Given the description of an element on the screen output the (x, y) to click on. 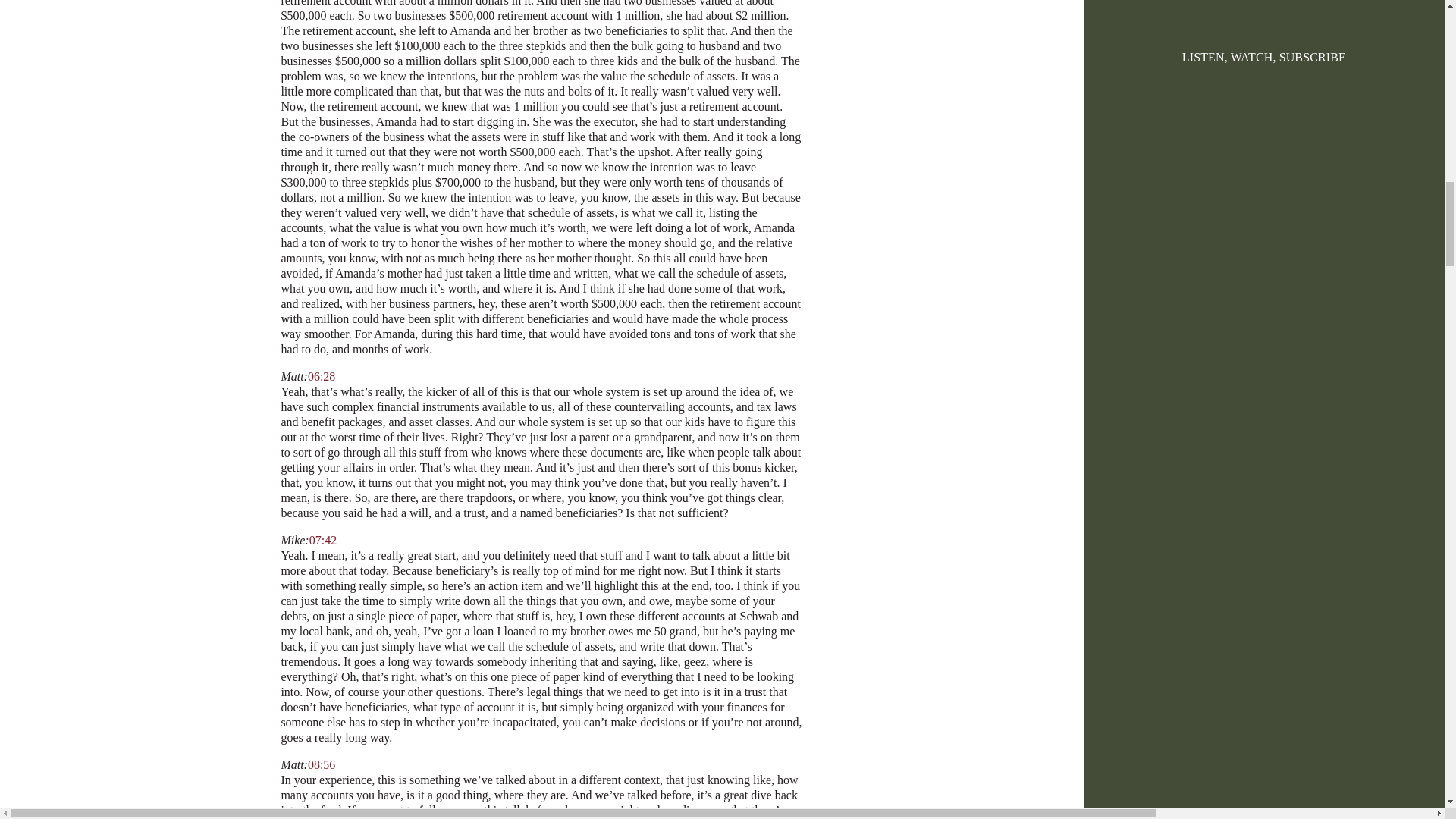
07:42 (322, 540)
08:56 (320, 764)
06:28 (320, 376)
